Given the description of an element on the screen output the (x, y) to click on. 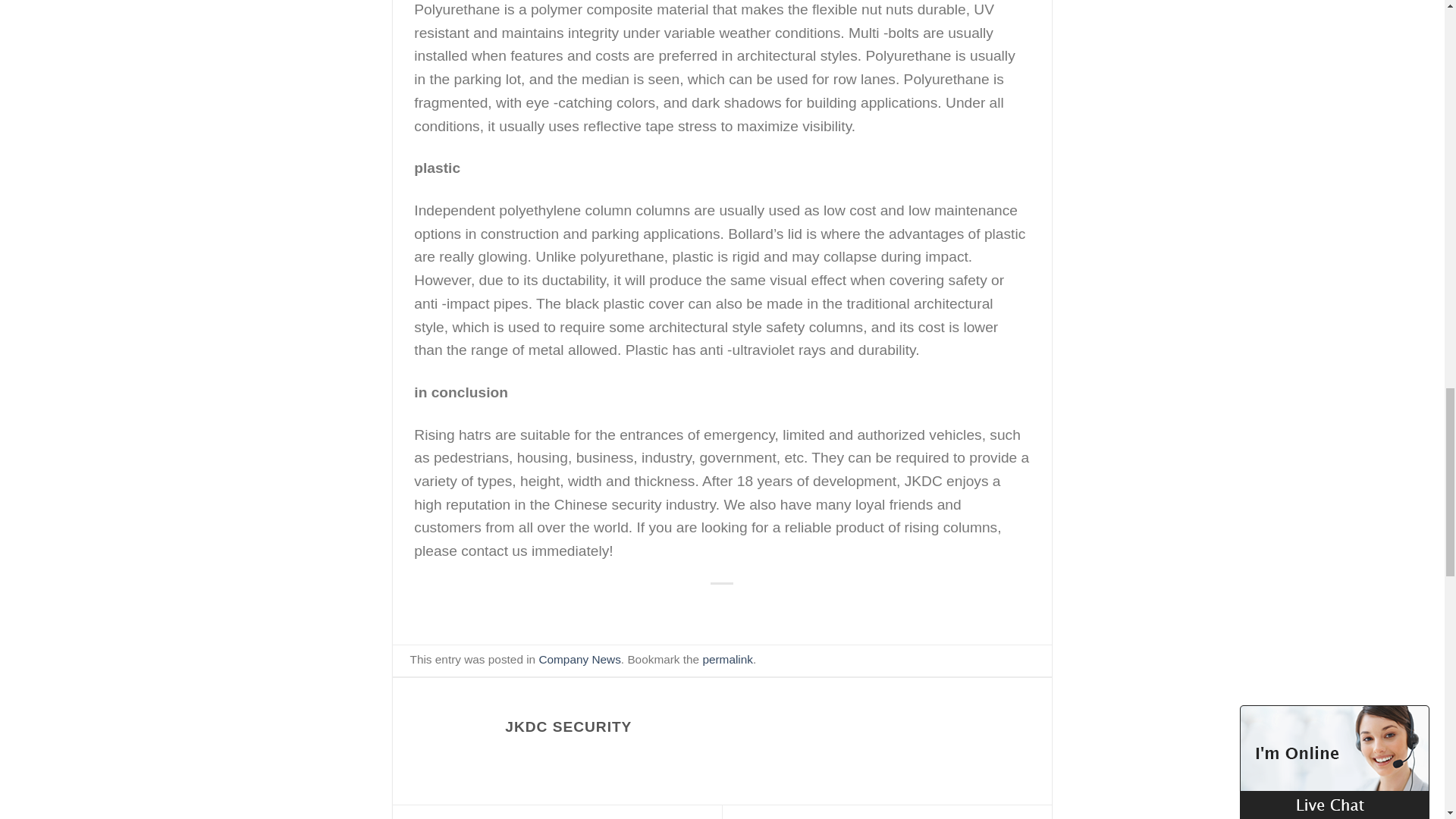
Company News (579, 658)
Permalink to Materials that can be used to make bolts (726, 658)
